Given the description of an element on the screen output the (x, y) to click on. 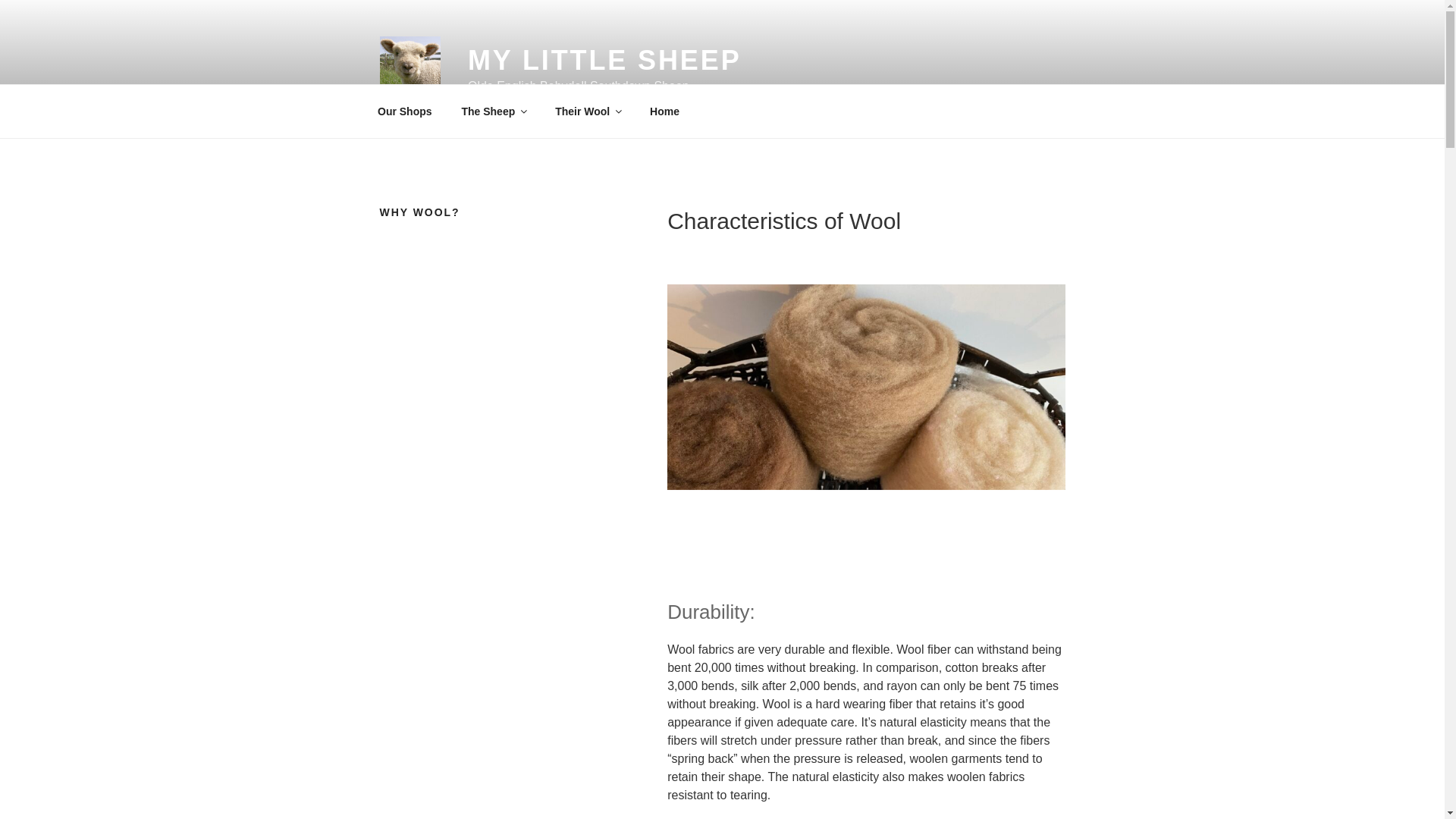
The Sheep (493, 110)
Home (665, 110)
Our Shops (404, 110)
Their Wool (587, 110)
MY LITTLE SHEEP (604, 60)
